Given the description of an element on the screen output the (x, y) to click on. 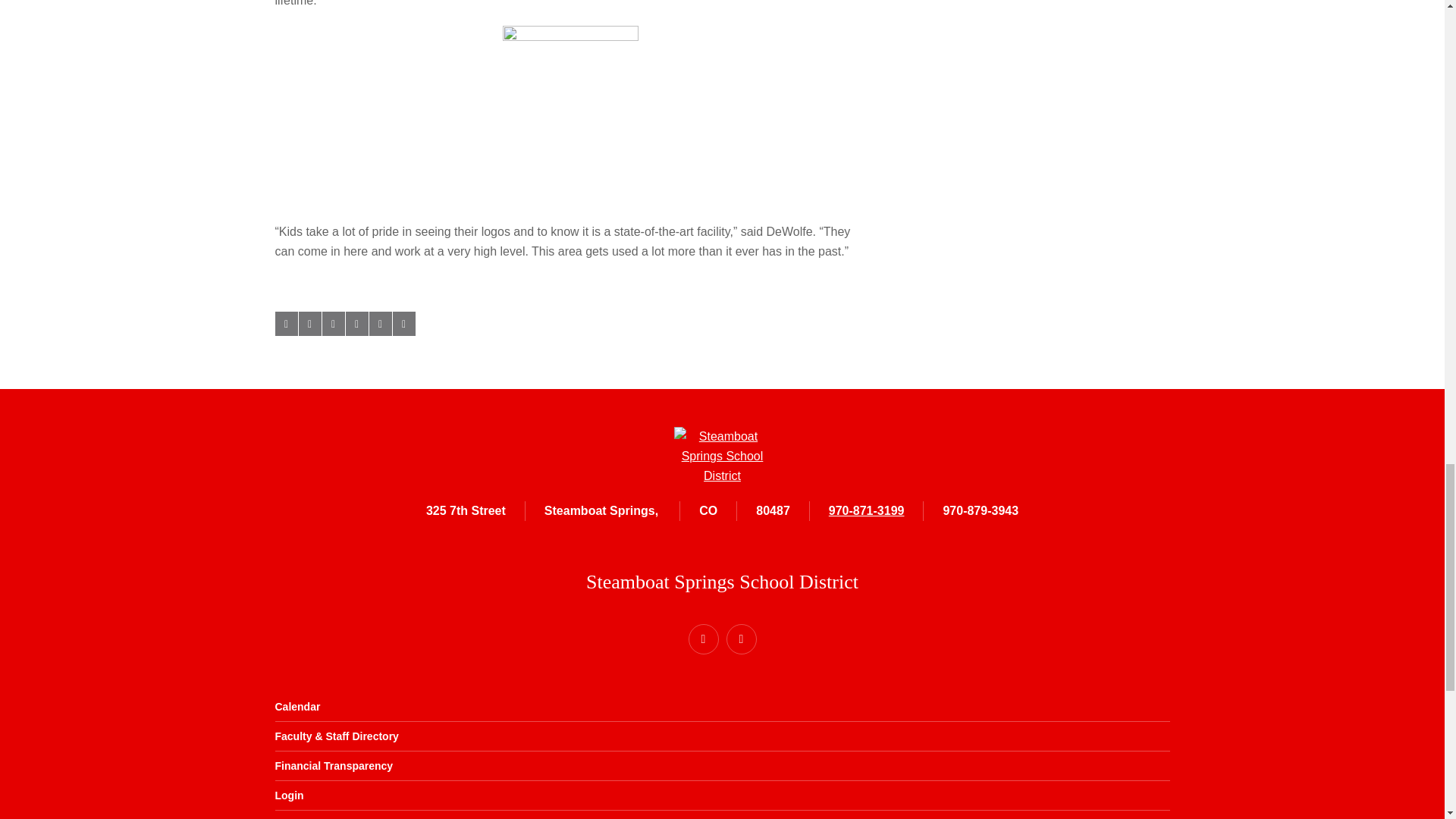
Share to Email (379, 323)
Print this page (403, 323)
Share to Twitter (309, 323)
Share to LinkedIn (332, 323)
Share to Pinterest (357, 323)
Share to Facebook (286, 323)
